Given the description of an element on the screen output the (x, y) to click on. 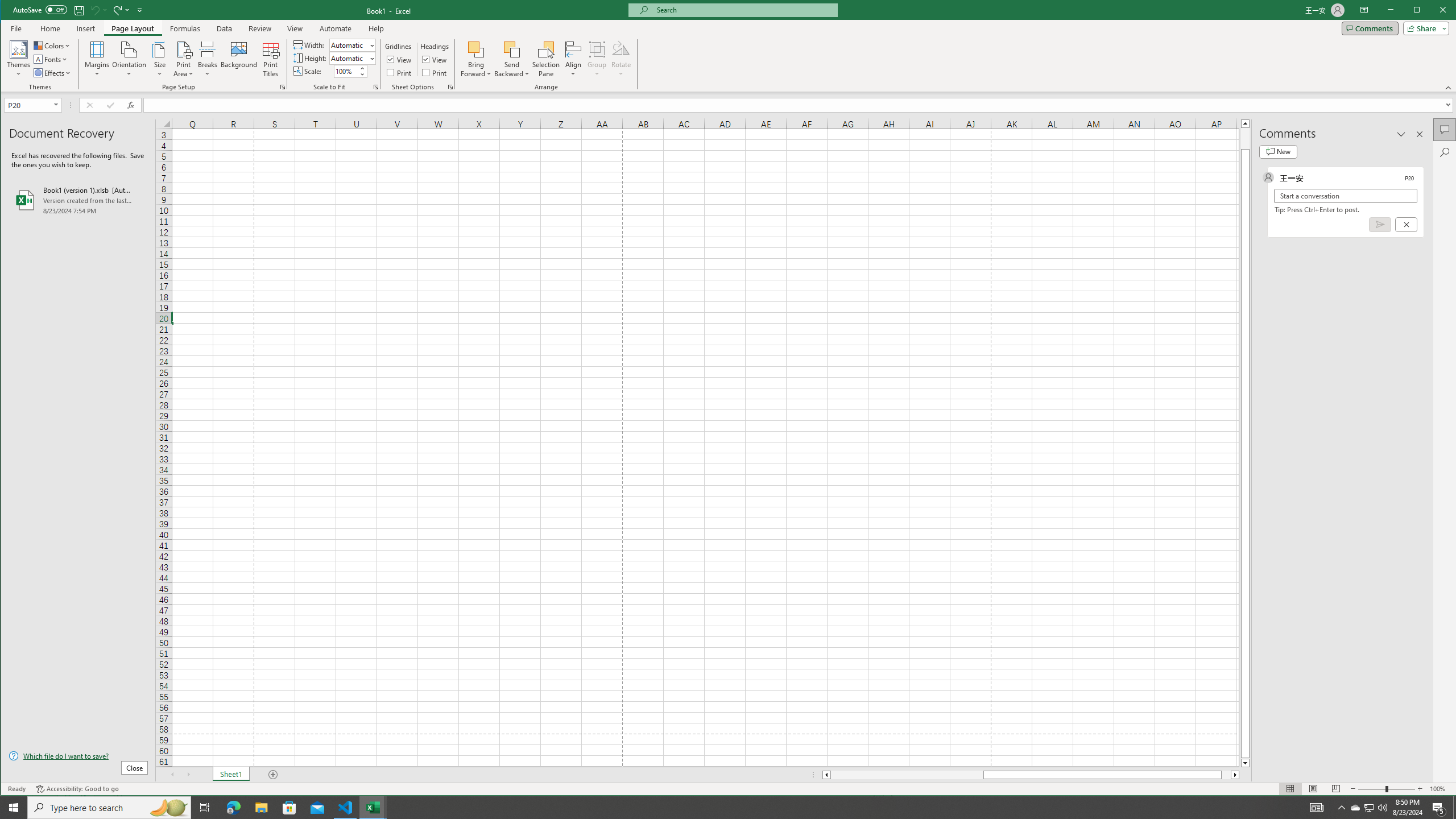
Breaks (207, 59)
Bring Forward (476, 48)
Size (159, 59)
Themes (18, 59)
Less (361, 73)
File Explorer (261, 807)
AutomationID: 4105 (1316, 807)
Height (349, 58)
